Given the description of an element on the screen output the (x, y) to click on. 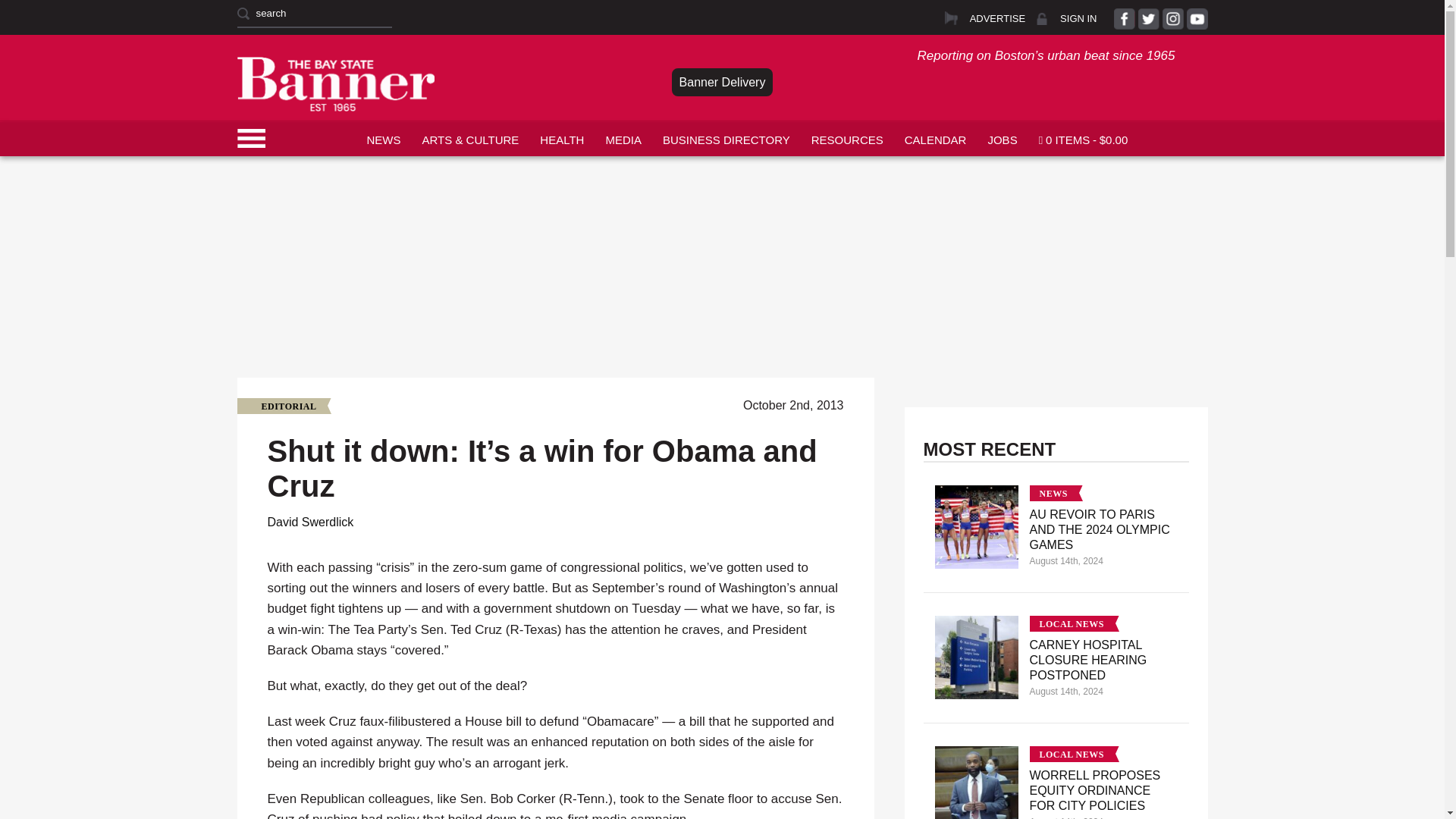
Start shopping (1082, 138)
The Bay State Banner (334, 83)
3rd party ad content (721, 191)
